Given the description of an element on the screen output the (x, y) to click on. 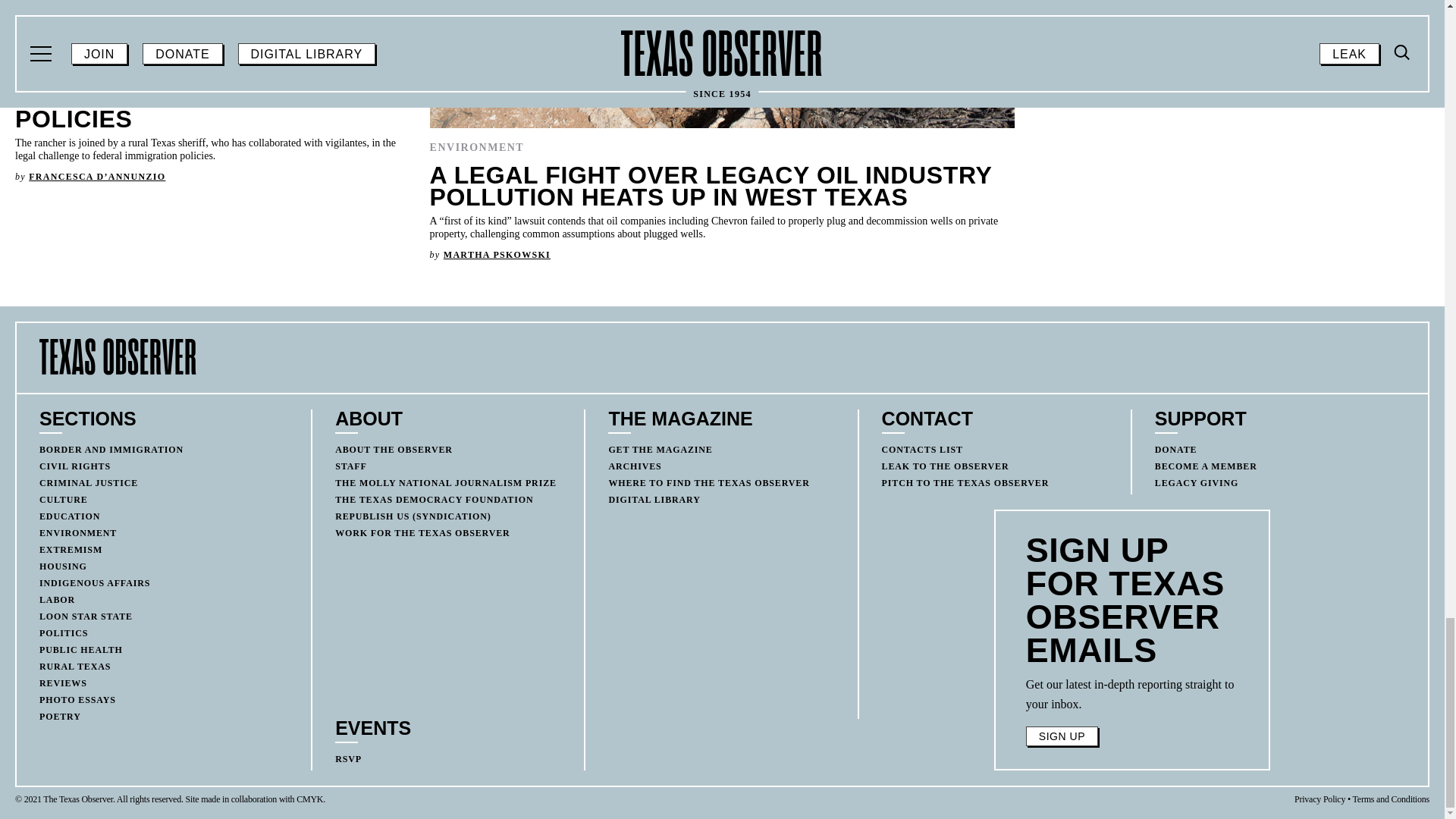
Post by Martha Pskowski (497, 254)
Post by Darcie Little Badger (1119, 97)
Page 6 (1132, 694)
